Given the description of an element on the screen output the (x, y) to click on. 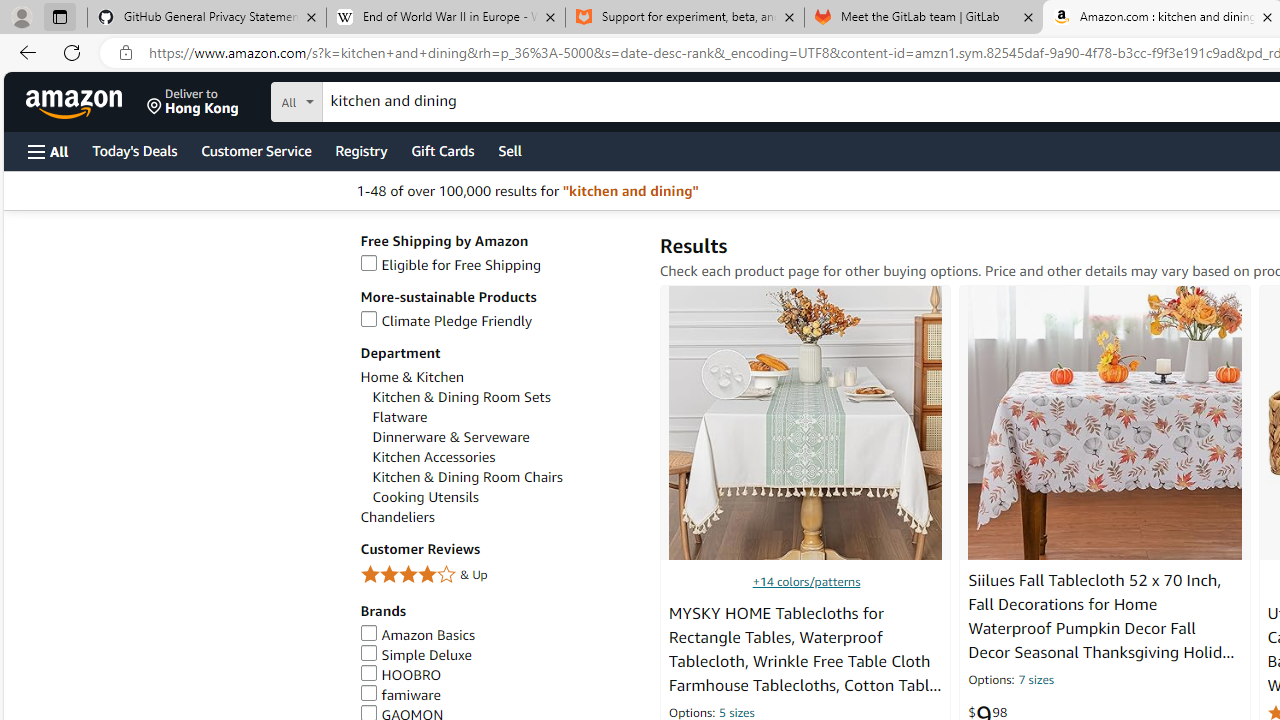
Flatware (506, 417)
Customer Service (256, 150)
HOOBRO (499, 675)
GitHub General Privacy Statement - GitHub Docs (207, 17)
Chandeliers (397, 517)
Home & Kitchen (411, 377)
Open Menu (48, 151)
Amazon (76, 101)
Dinnerware & Serveware (450, 437)
famiware (499, 695)
